Given the description of an element on the screen output the (x, y) to click on. 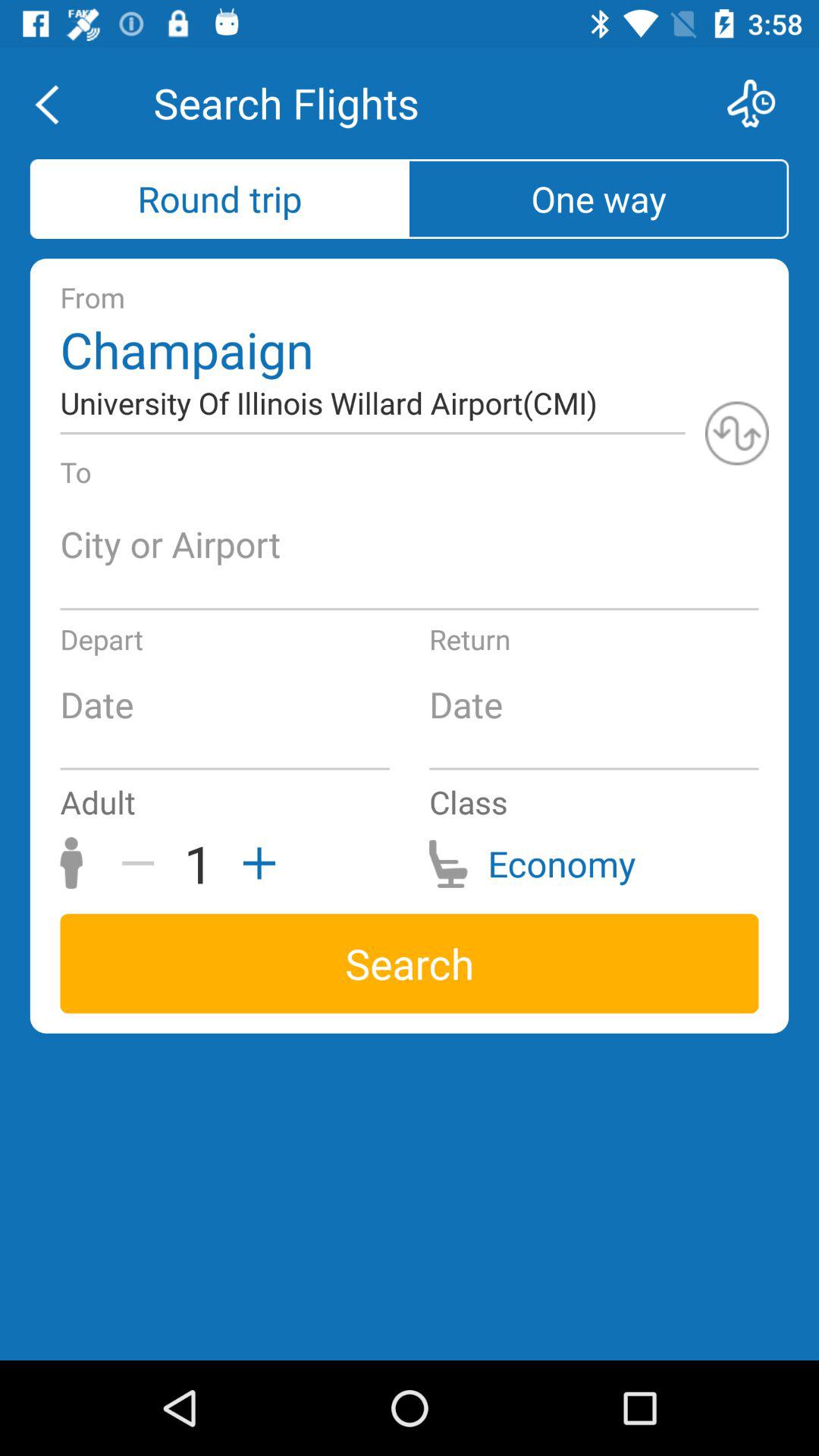
launch item above from (598, 198)
